Given the description of an element on the screen output the (x, y) to click on. 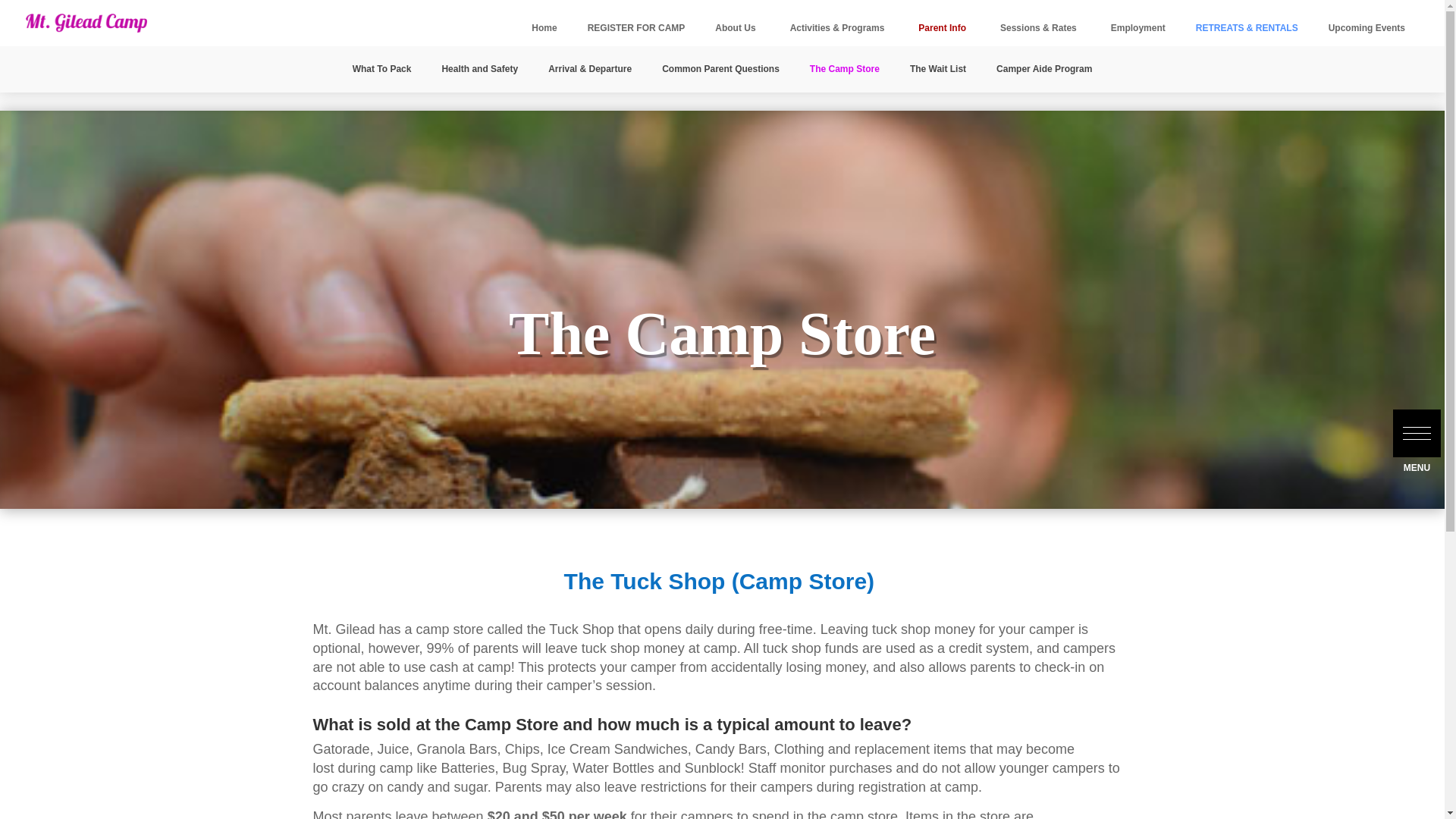
REGISTER FOR CAMP (636, 28)
About Us (737, 28)
Home (544, 28)
